Given the description of an element on the screen output the (x, y) to click on. 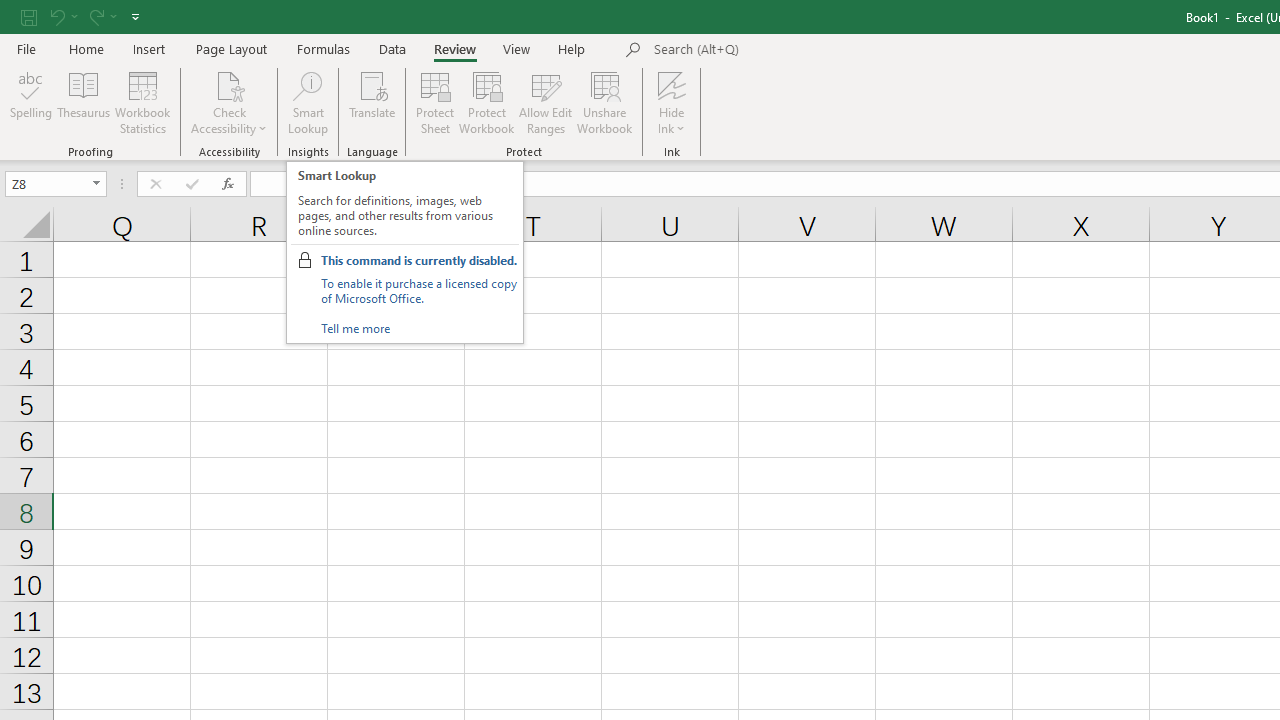
Unshare Workbook (604, 102)
Spelling... (31, 102)
Check Accessibility (229, 84)
Workbook Statistics (142, 102)
